Given the description of an element on the screen output the (x, y) to click on. 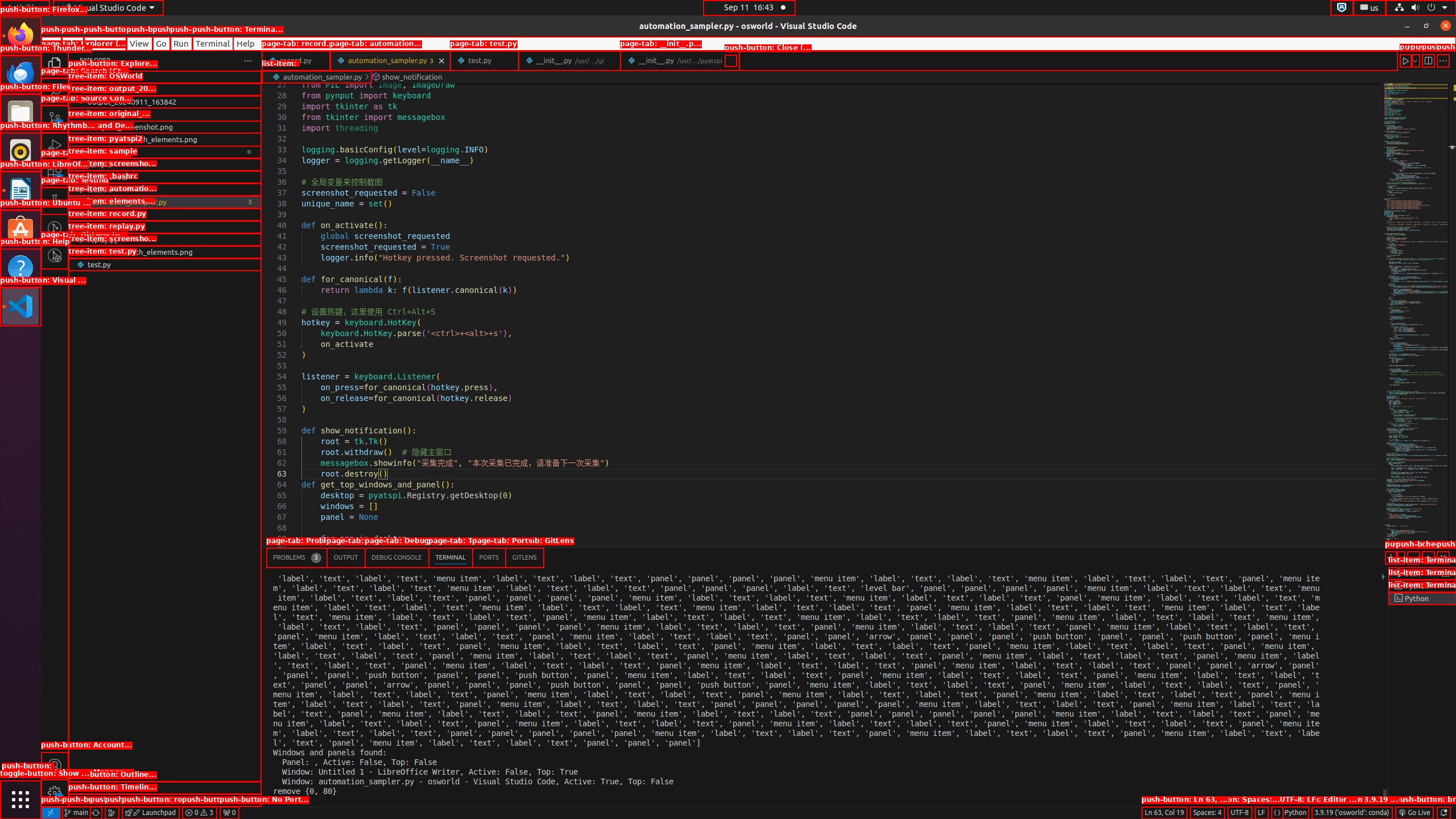
Outline Section Element type: push-button (164, 787)
Debug Console (Ctrl+Shift+Y) Element type: page-tab (396, 557)
Terminal Element type: push-button (212, 43)
Show the GitLens Commit Graph Element type: push-button (111, 812)
